Given the description of an element on the screen output the (x, y) to click on. 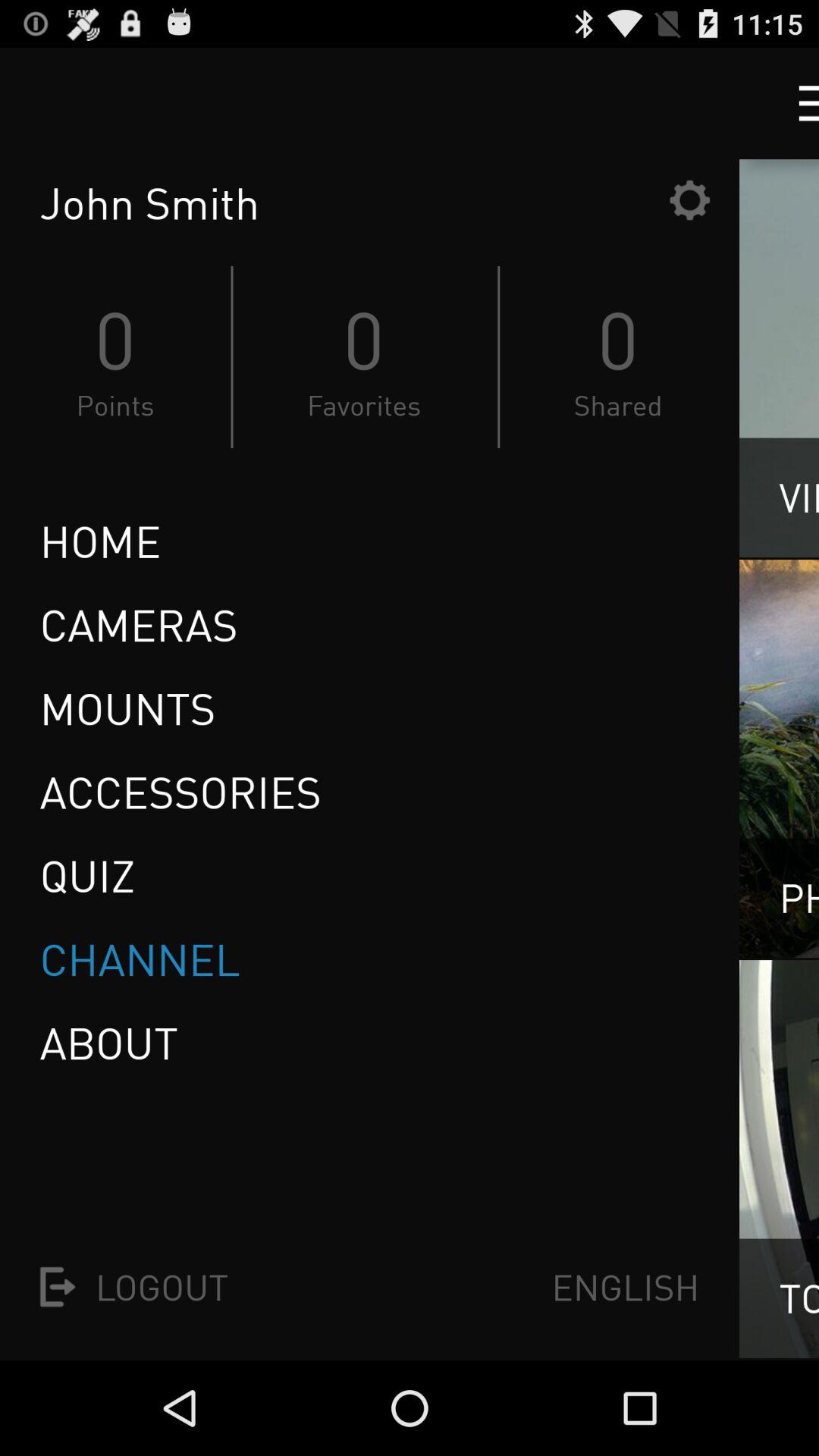
open preferences (689, 199)
